Given the description of an element on the screen output the (x, y) to click on. 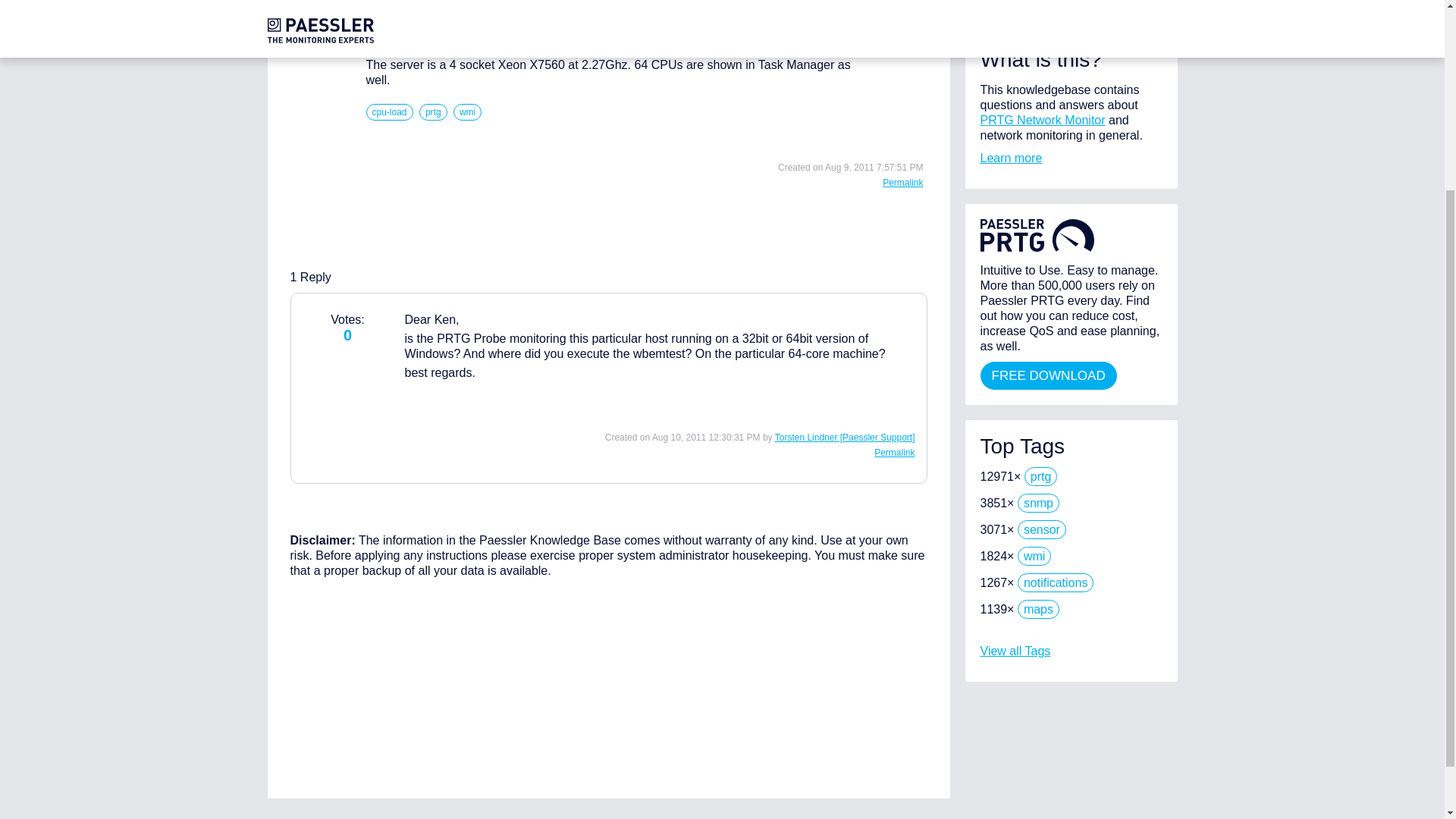
FREE DOWNLOAD (1047, 375)
Profile of this user (844, 437)
maps (1038, 609)
Permalink (902, 182)
wmi (1034, 556)
notifications (1055, 582)
cpu-load (388, 112)
Permalink to this reply (894, 452)
snmp (1038, 502)
wmi (466, 112)
